Given the description of an element on the screen output the (x, y) to click on. 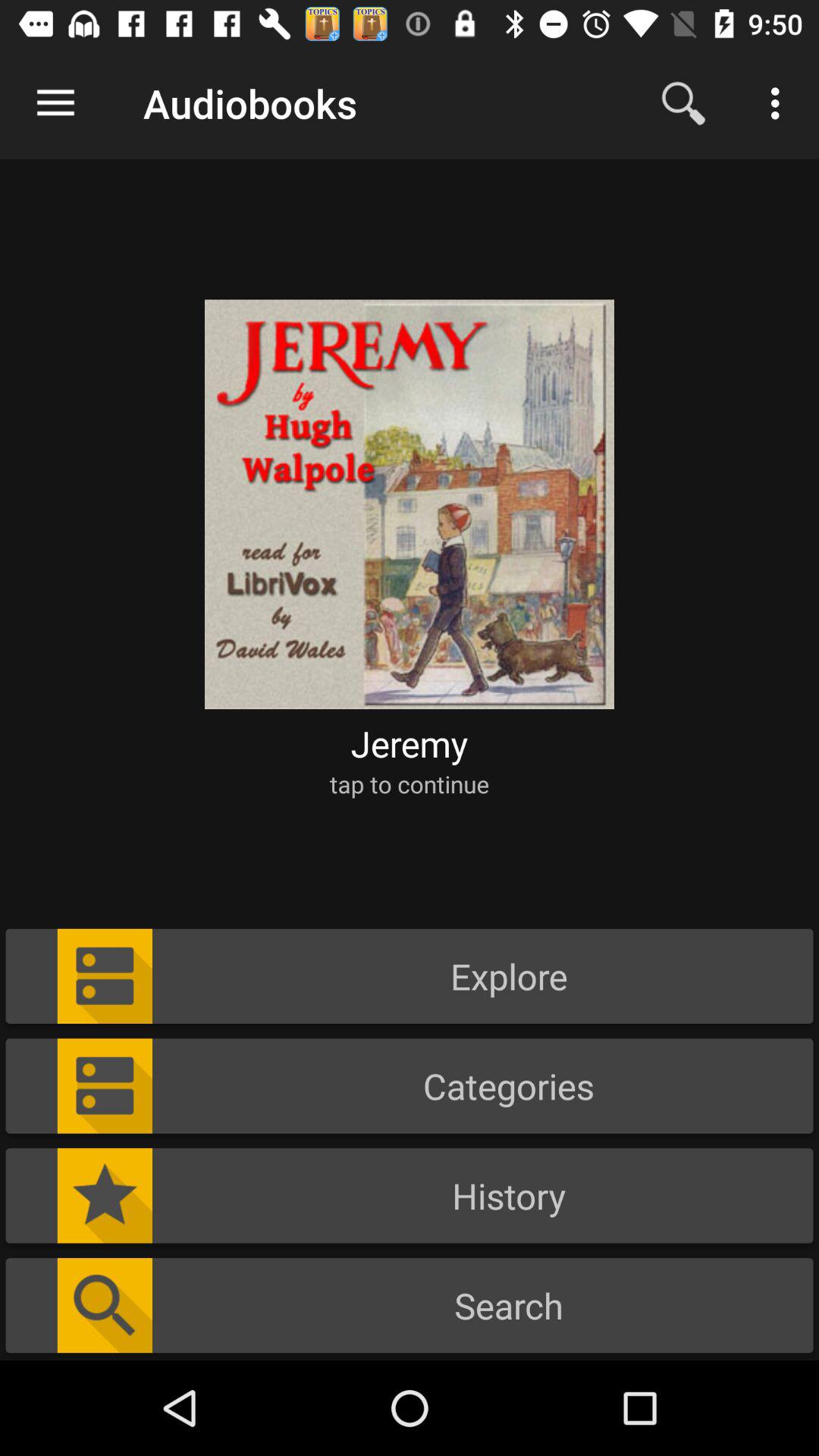
open jeremy icon (409, 743)
